Given the description of an element on the screen output the (x, y) to click on. 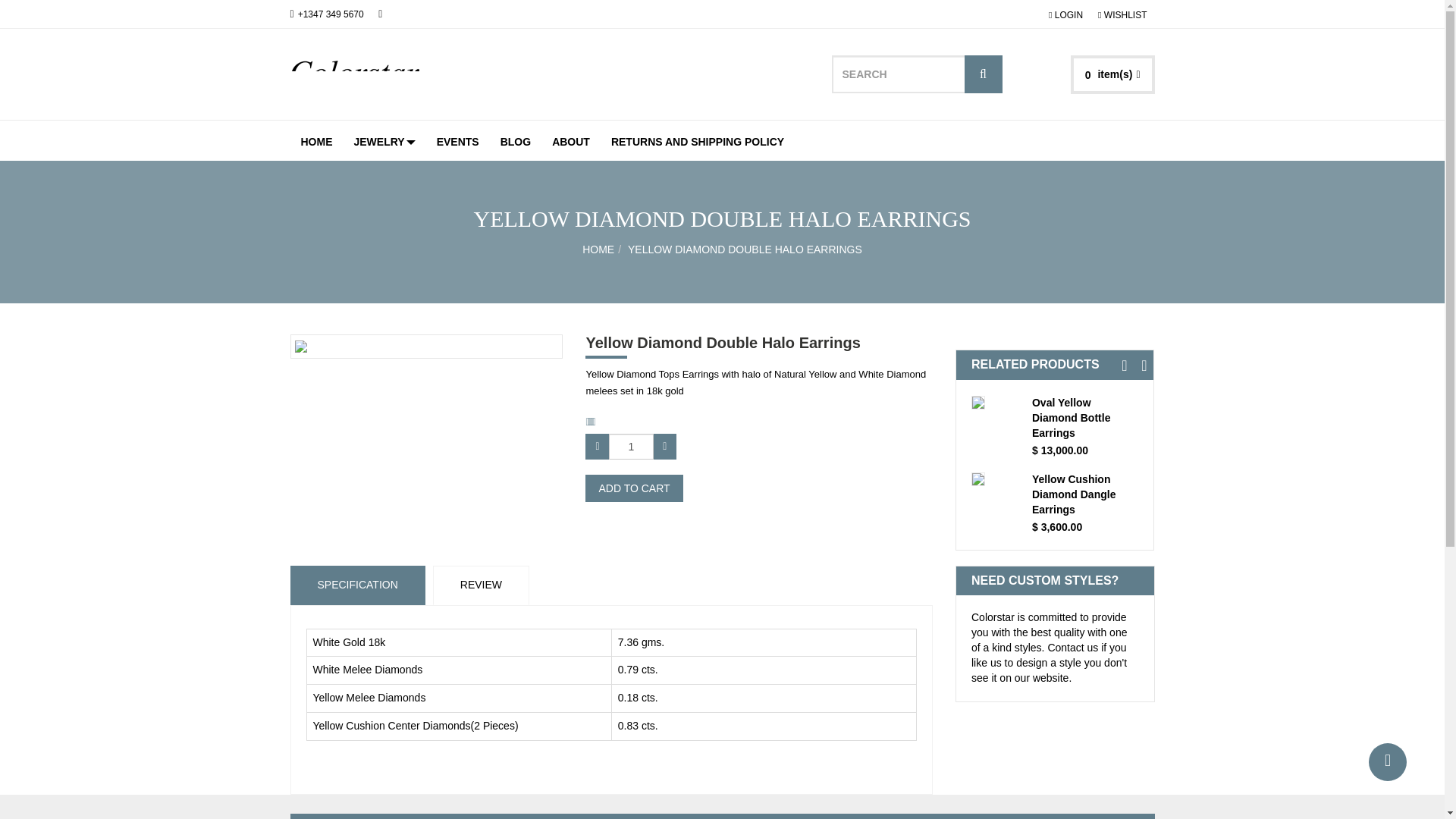
Oval Yellow Diamond Bottle Earrings (1085, 418)
LOGIN (1065, 13)
HOME (315, 140)
REVIEW (480, 585)
Next (1143, 364)
WISHLIST (1122, 13)
RETURNS AND SHIPPING POLICY (696, 140)
Yellow Cushion Diamond Dangle Earrings (1085, 494)
HOME (598, 249)
JEWELRY (383, 140)
